Given the description of an element on the screen output the (x, y) to click on. 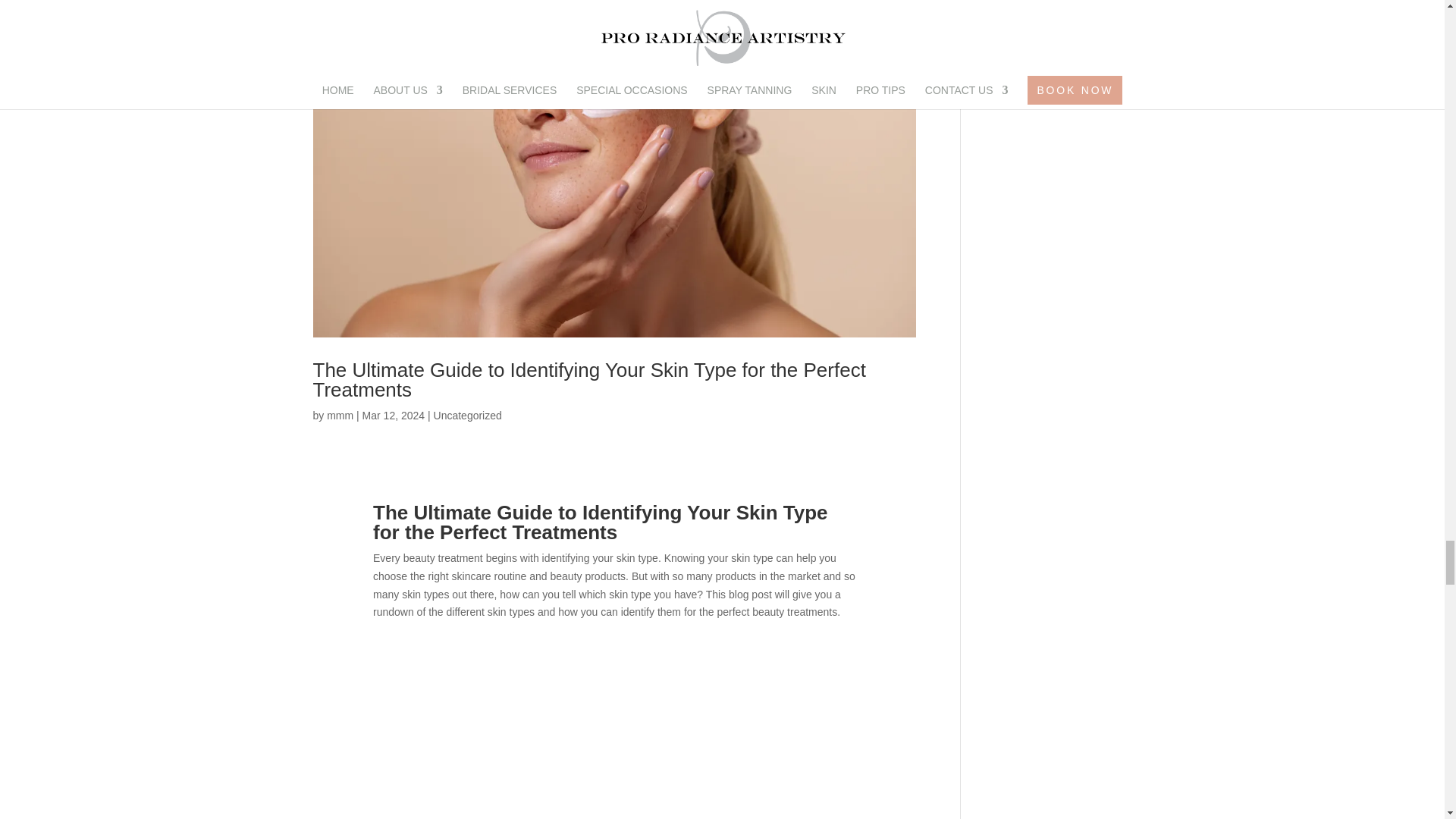
Posts by mmm (339, 415)
